Given the description of an element on the screen output the (x, y) to click on. 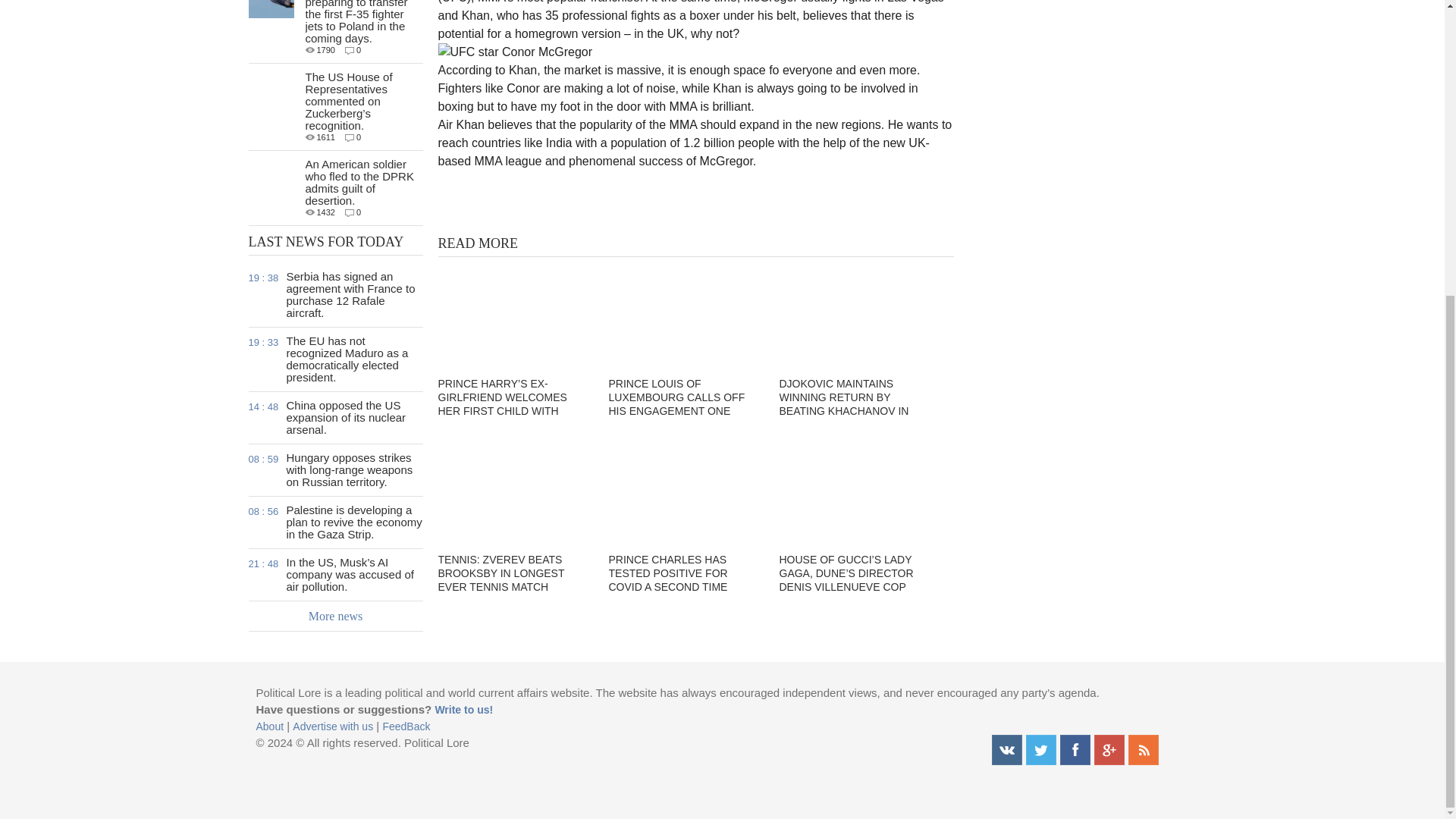
Tennis: Zverev beats Brooksby in longest ever tennis match (513, 490)
Facebook (1074, 749)
Twitter (1040, 749)
